Given the description of an element on the screen output the (x, y) to click on. 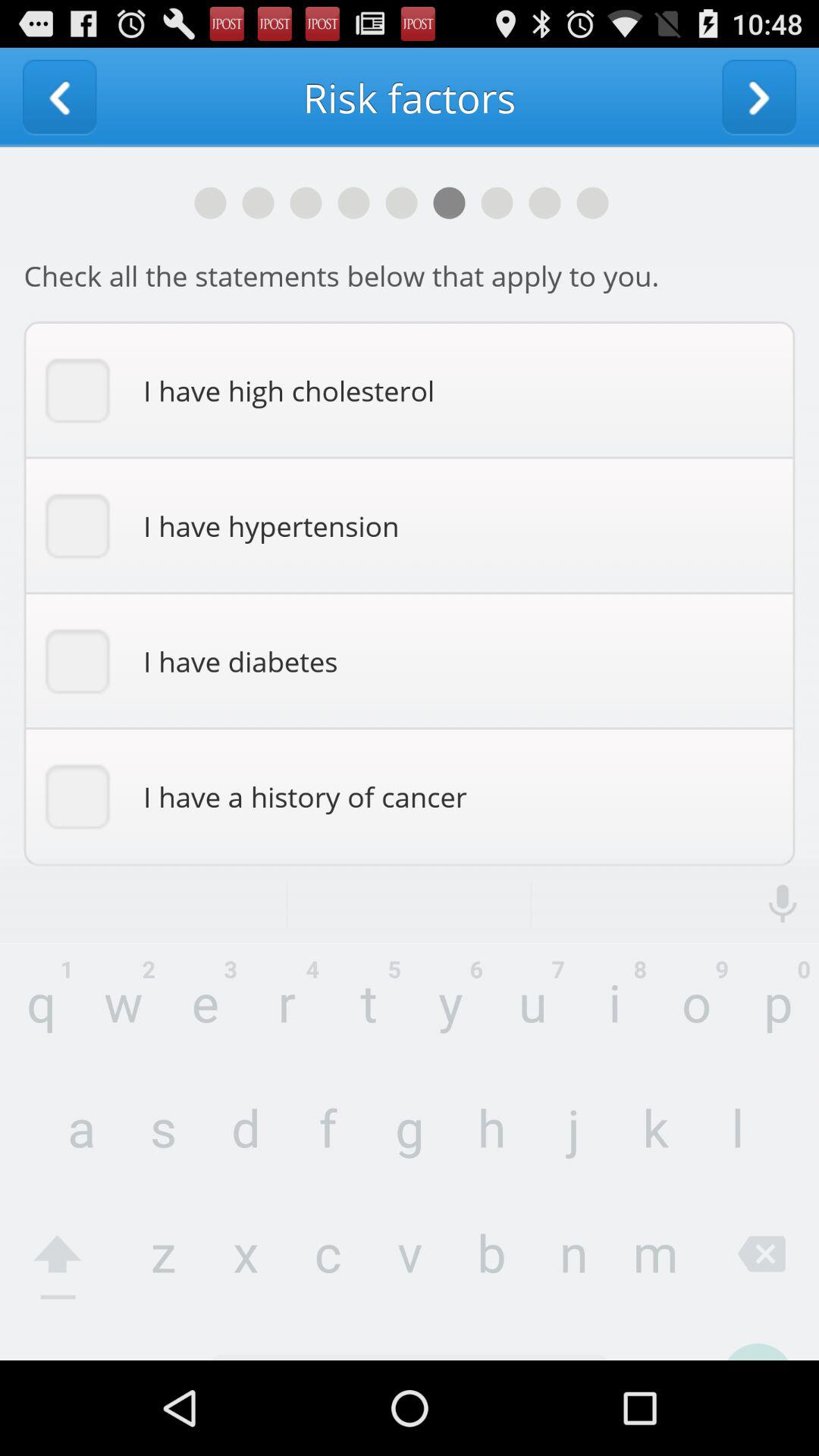
go foward one page (759, 97)
